Given the description of an element on the screen output the (x, y) to click on. 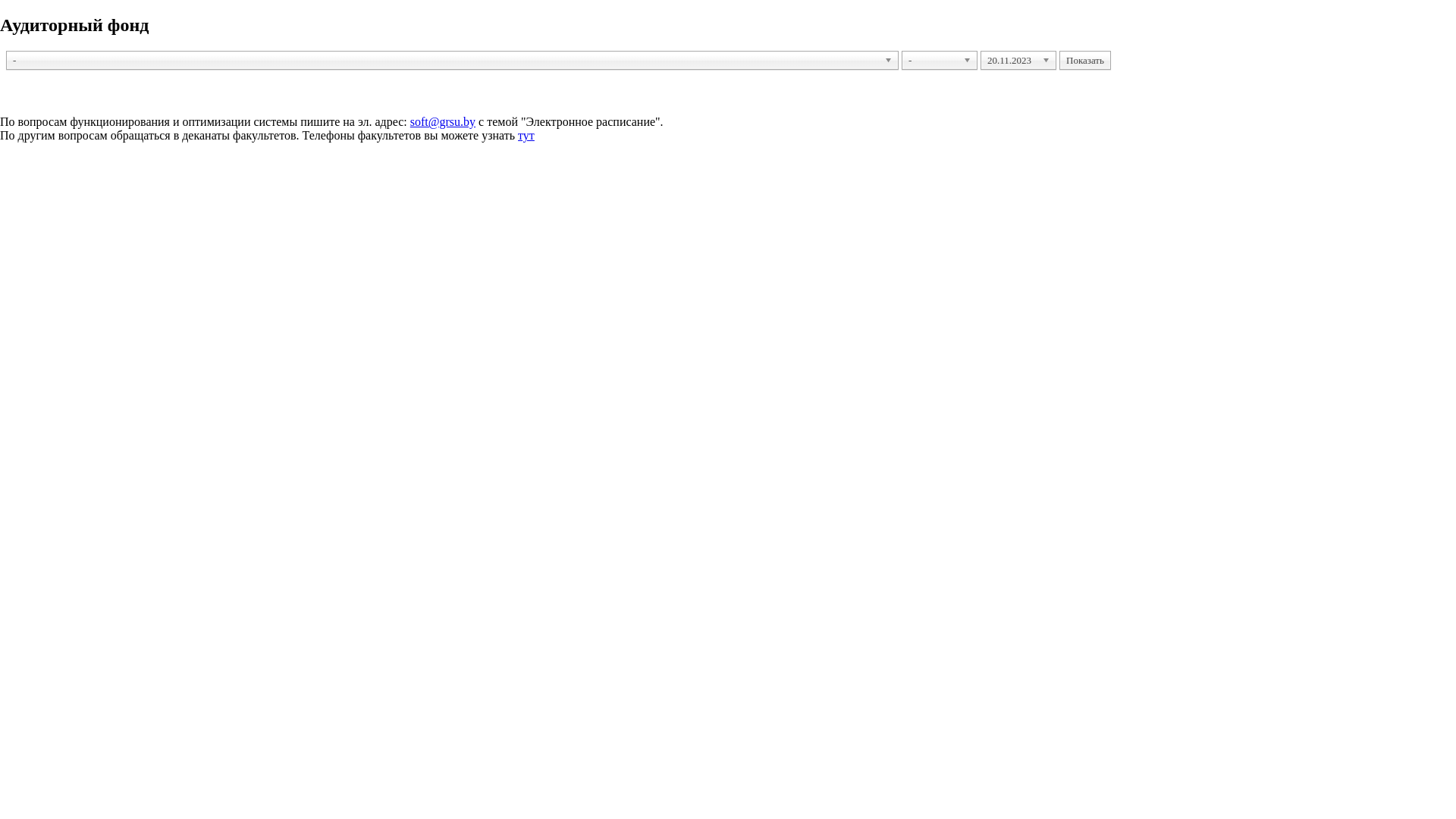
20.11.2023 Element type: text (1018, 59)
- Element type: text (452, 59)
- Element type: text (939, 59)
soft@grsu.by Element type: text (442, 121)
